Given the description of an element on the screen output the (x, y) to click on. 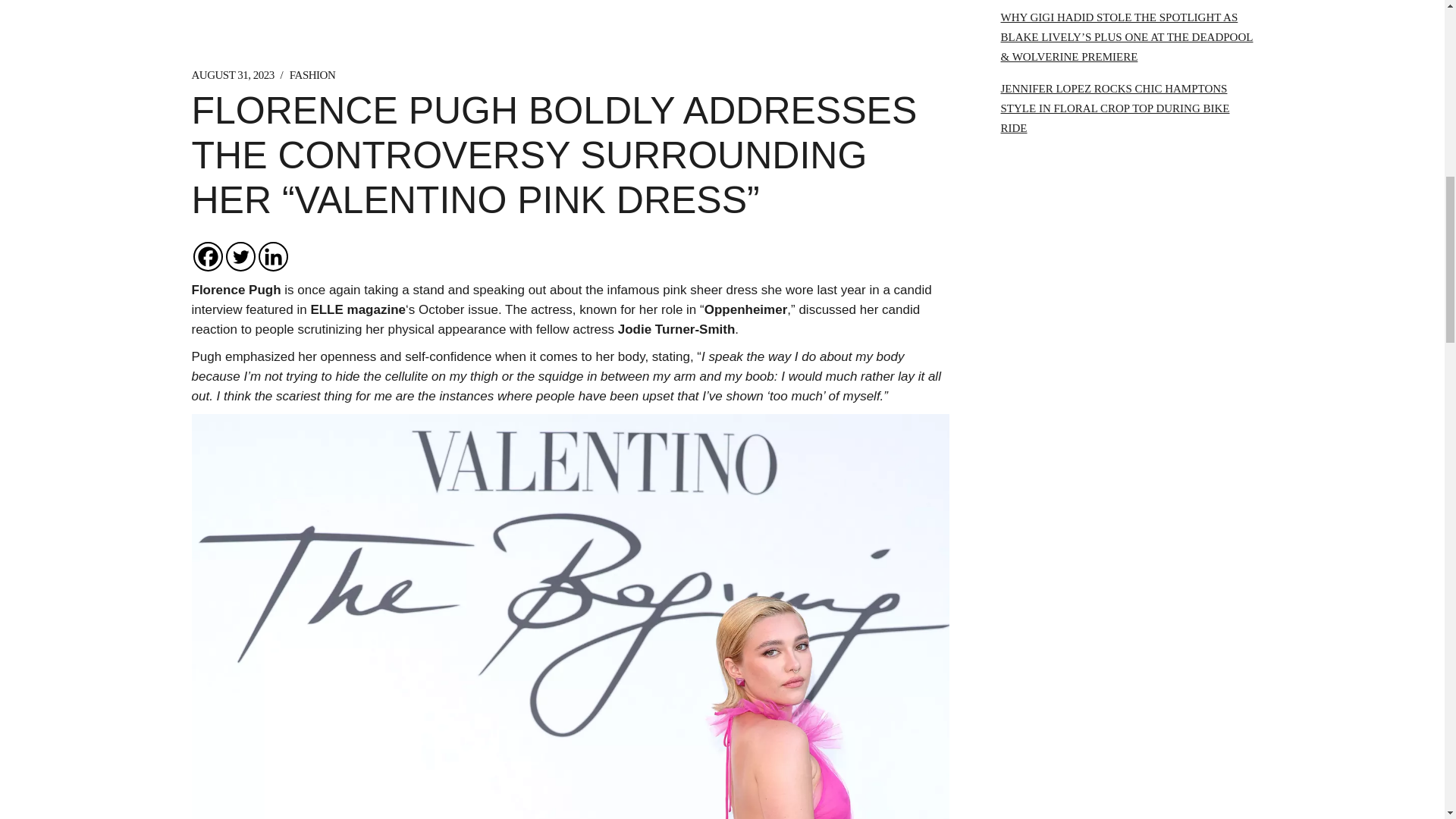
Oppenheimer (745, 309)
ELLE magazine (358, 309)
Florence Pugh (235, 289)
Jodie Turner-Smith. (677, 329)
Linkedin (271, 256)
Oppenheimer (745, 309)
ELLE magazine (358, 309)
Facebook (207, 256)
Twitter (240, 256)
AUGUST 31, 2023 (231, 74)
